Given the description of an element on the screen output the (x, y) to click on. 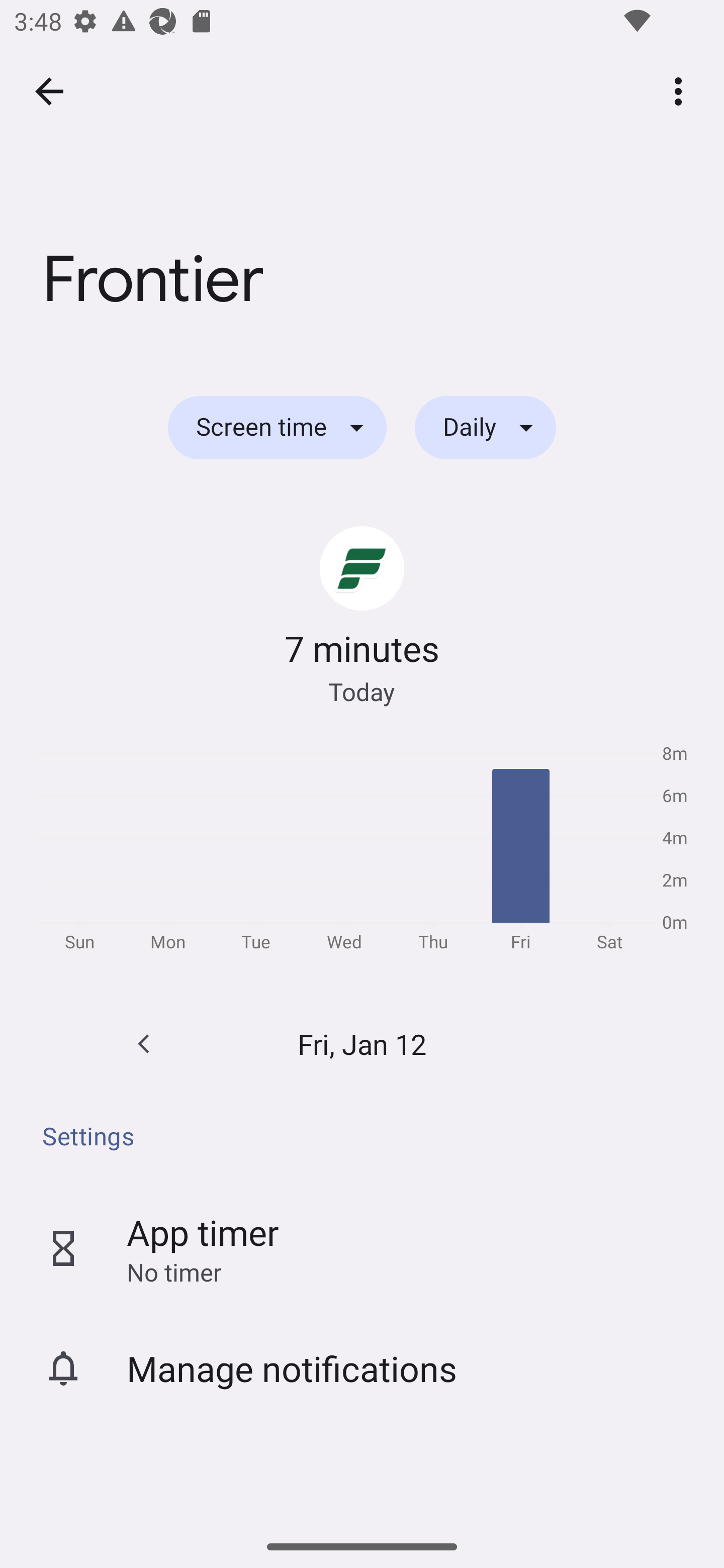
Navigate up (49, 91)
More options (681, 90)
Screen time (276, 427)
Daily (485, 427)
Go to the previous day (143, 1043)
App timer No timer (362, 1248)
Manage notifications (362, 1368)
